Given the description of an element on the screen output the (x, y) to click on. 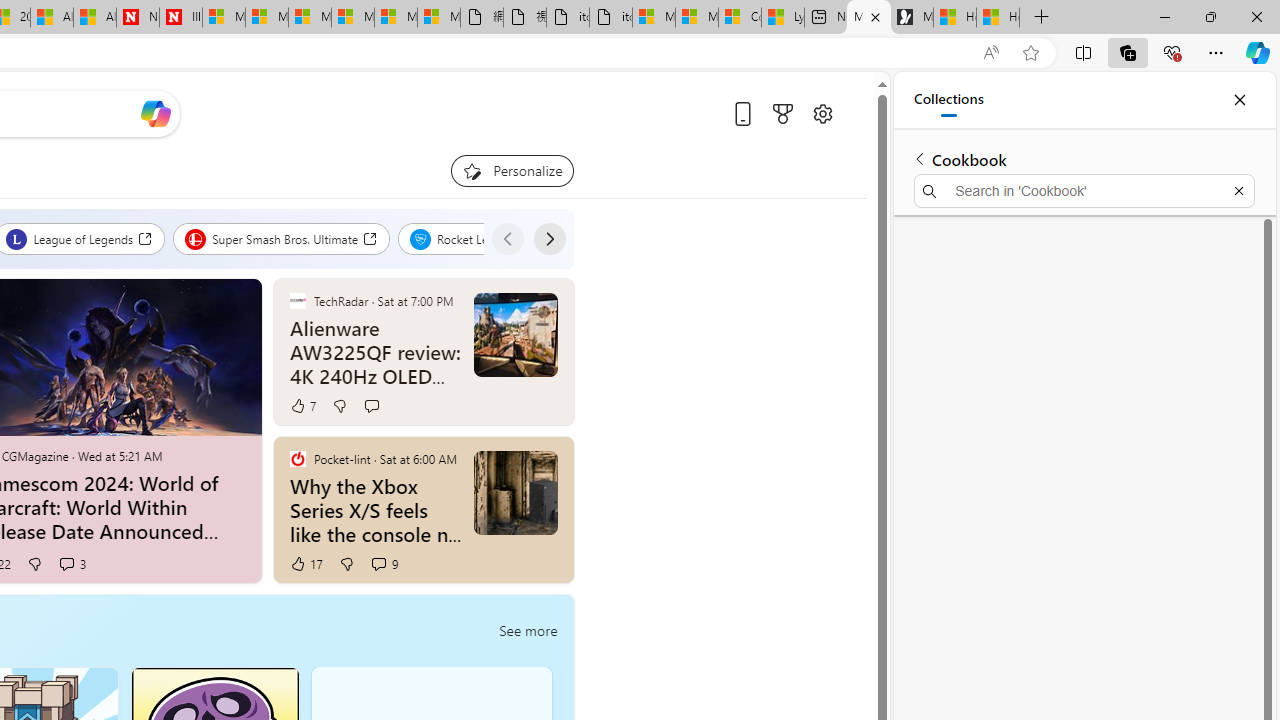
Back to list of collections (920, 158)
Start the conversation (371, 405)
17 Like (306, 564)
View comments 3 Comment (66, 563)
Rocket League (472, 238)
View comments 3 Comment (71, 564)
Consumer Health Data Privacy Policy (740, 17)
Personalize your feed" (511, 170)
TechRadar (297, 300)
Alienware AW3225QF review: 4K 240Hz OLED gaming glory (375, 352)
